Given the description of an element on the screen output the (x, y) to click on. 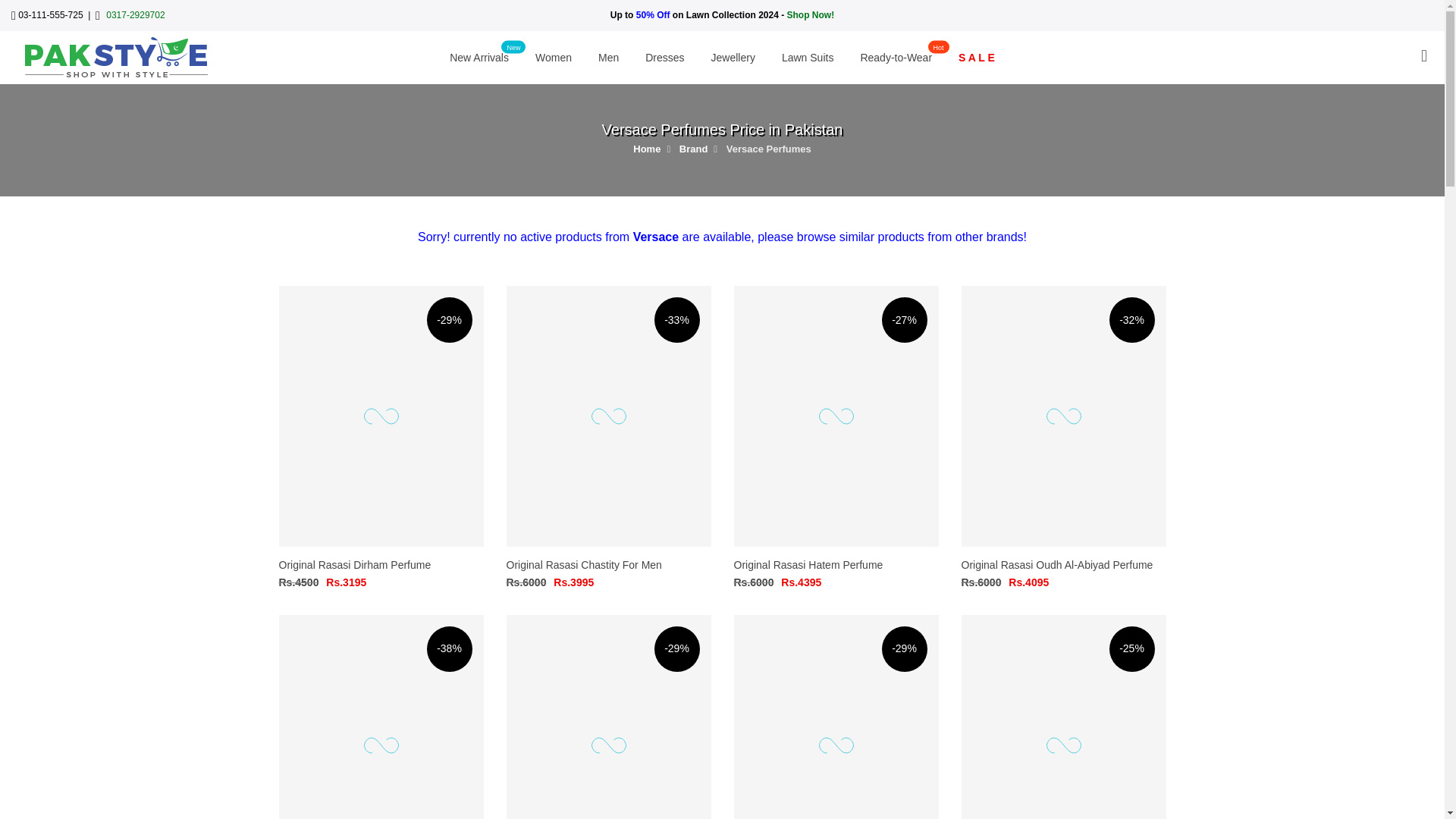
0317-2929702 (135, 14)
Online Shopping in Pakistan (114, 56)
Shop Now! (810, 14)
Women (553, 57)
Original Rasasi Chastity for Men (584, 564)
Original Rasasi Royale Blue Perfume for Men (479, 57)
Original Rasasi Dirham Perfume (381, 717)
Original Rasasi Hatem Perfume (354, 564)
Original Rasasi Oudh Al-Abiyad Perfume (808, 564)
